Given the description of an element on the screen output the (x, y) to click on. 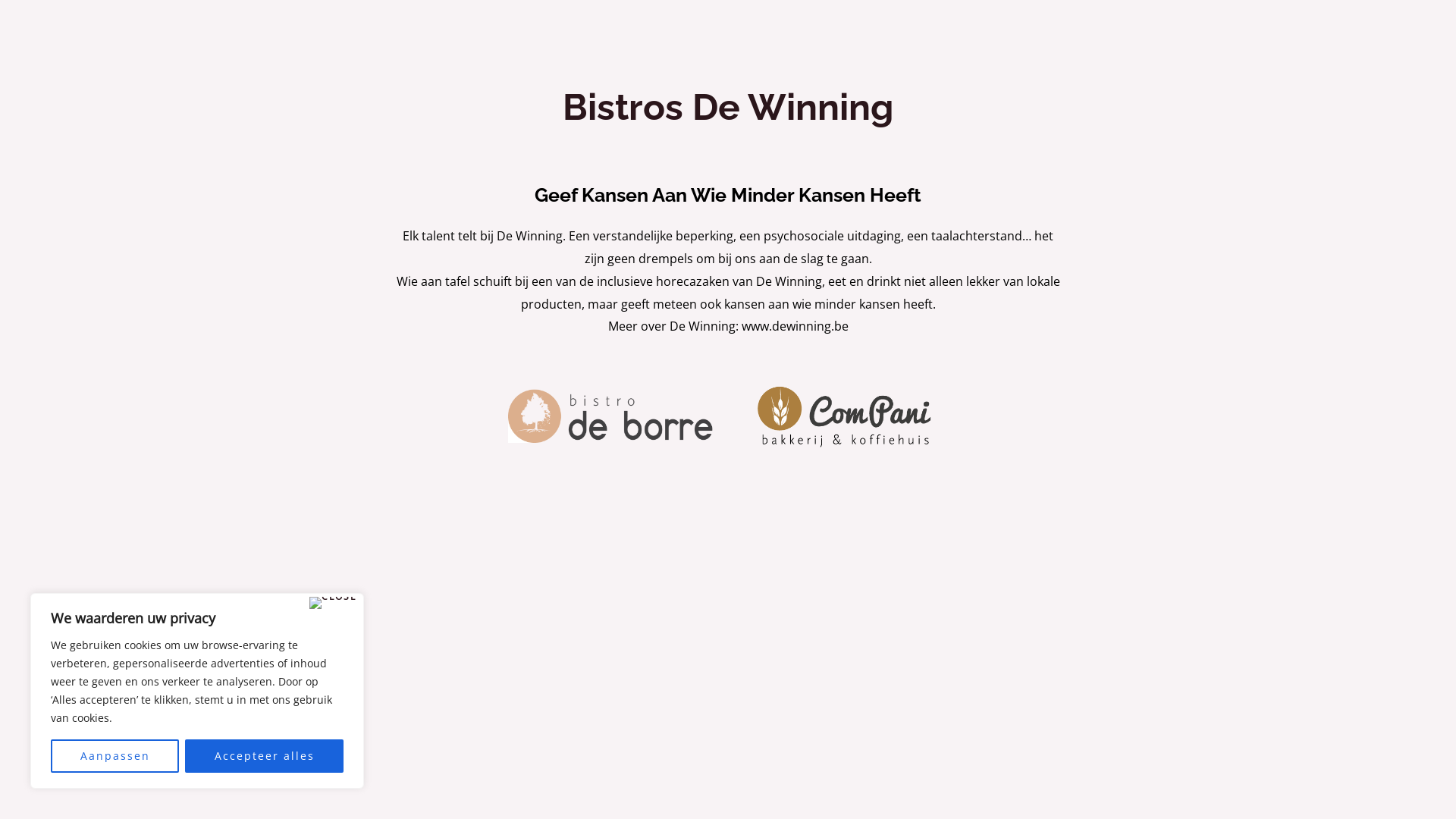
www.dewinning.be Element type: text (794, 325)
